Given the description of an element on the screen output the (x, y) to click on. 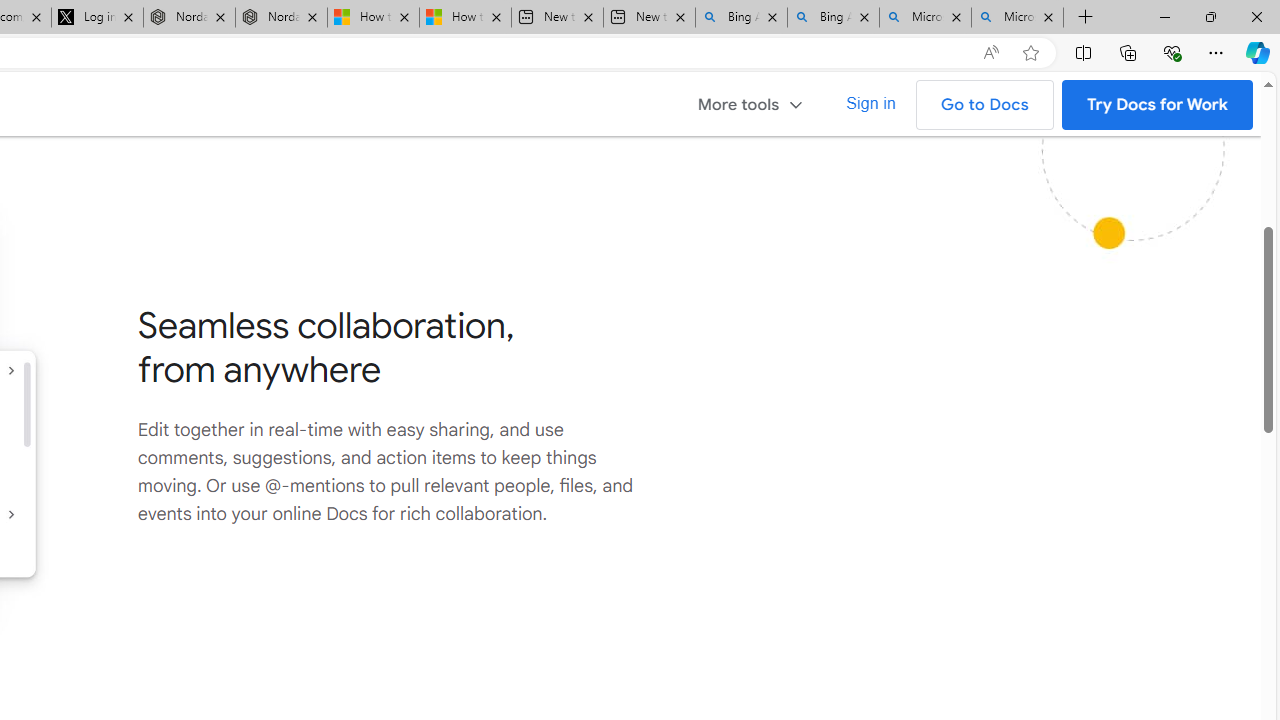
How to Use a Monitor With Your Closed Laptop (464, 17)
